Given the description of an element on the screen output the (x, y) to click on. 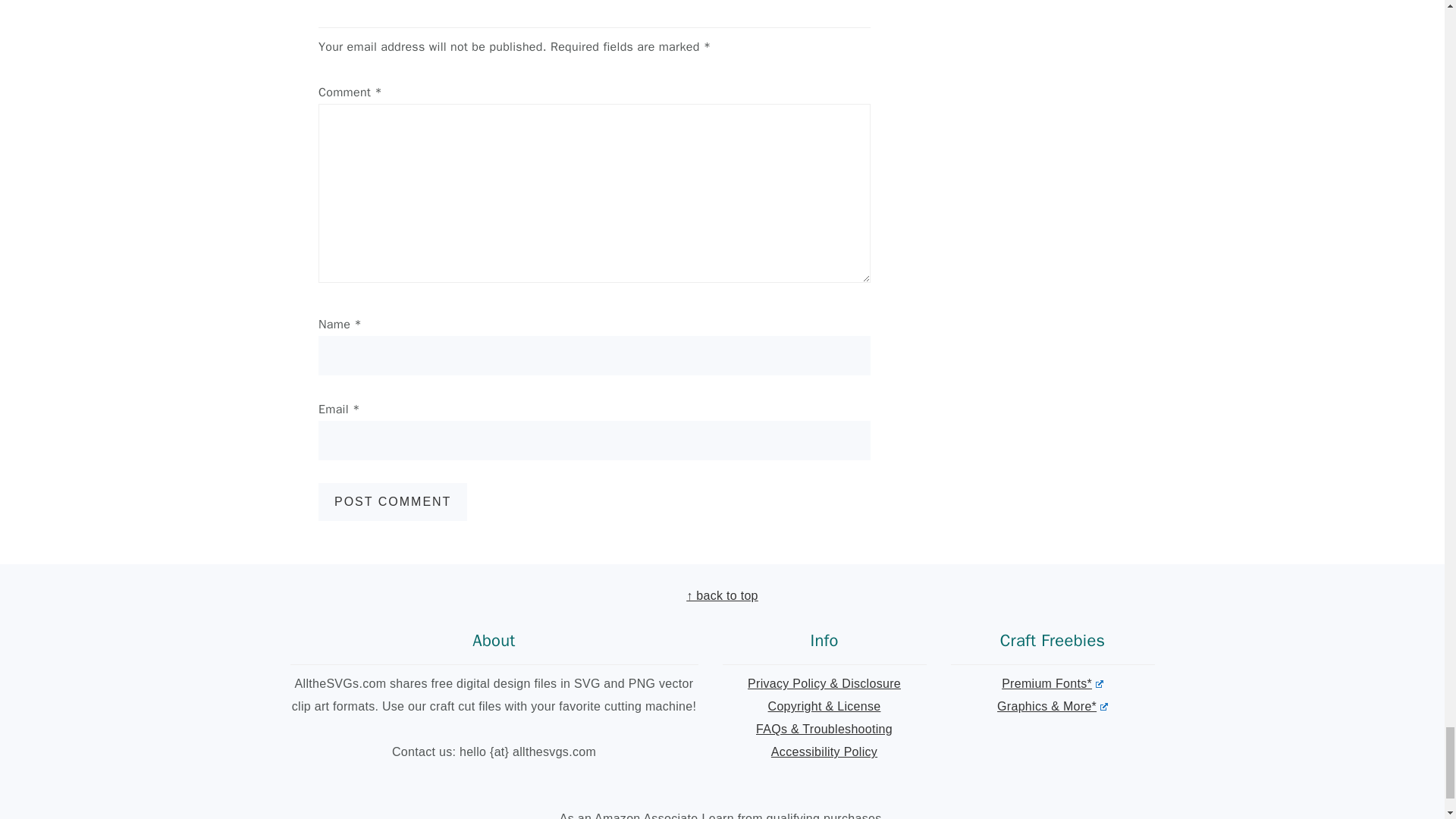
Post Comment (392, 501)
